Given the description of an element on the screen output the (x, y) to click on. 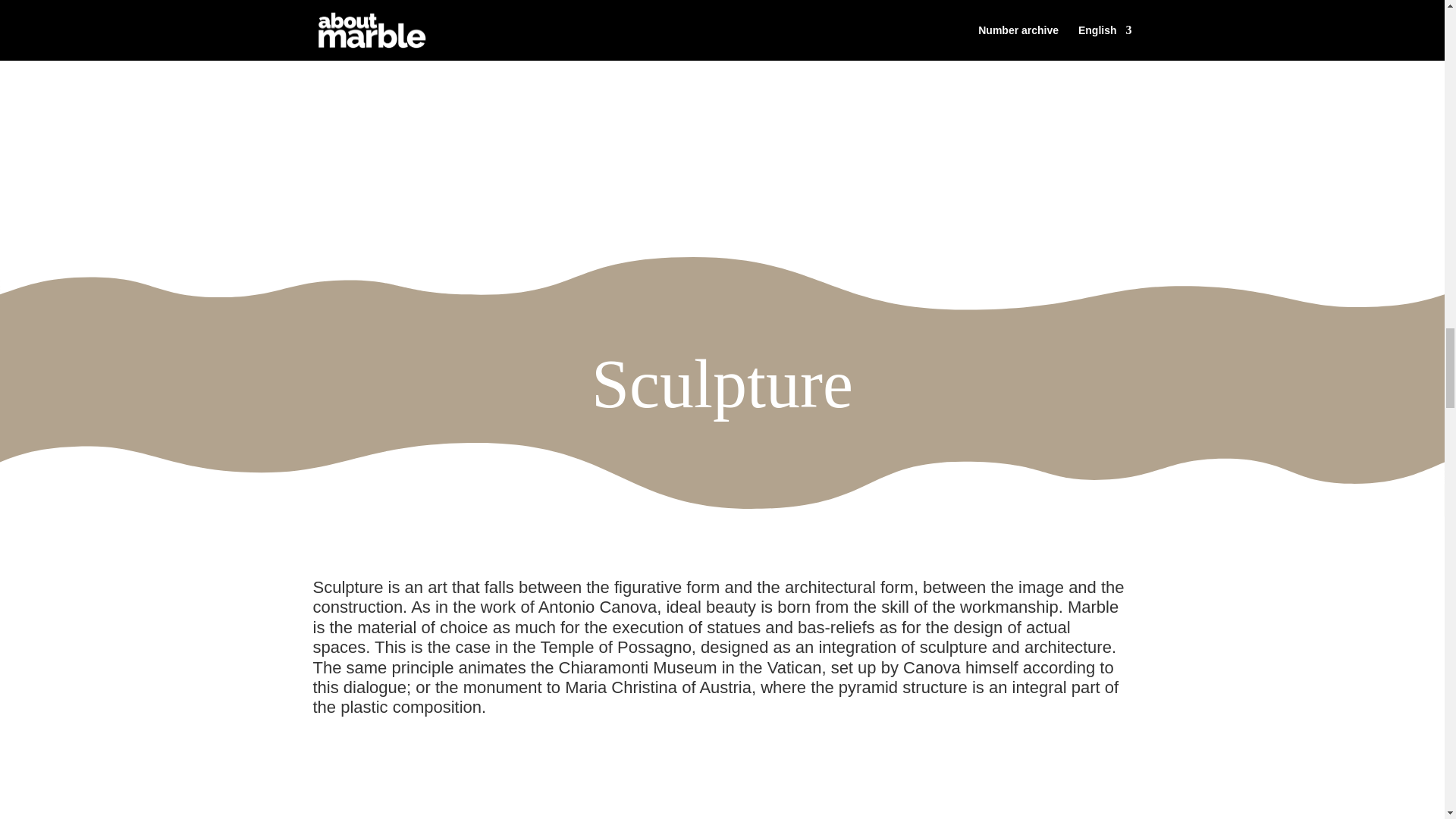
eventoCallas2021-1 (240, 94)
eventoCallas2022-1 (721, 94)
canova-possagno (486, 783)
canova-angelo (878, 770)
